Given the description of an element on the screen output the (x, y) to click on. 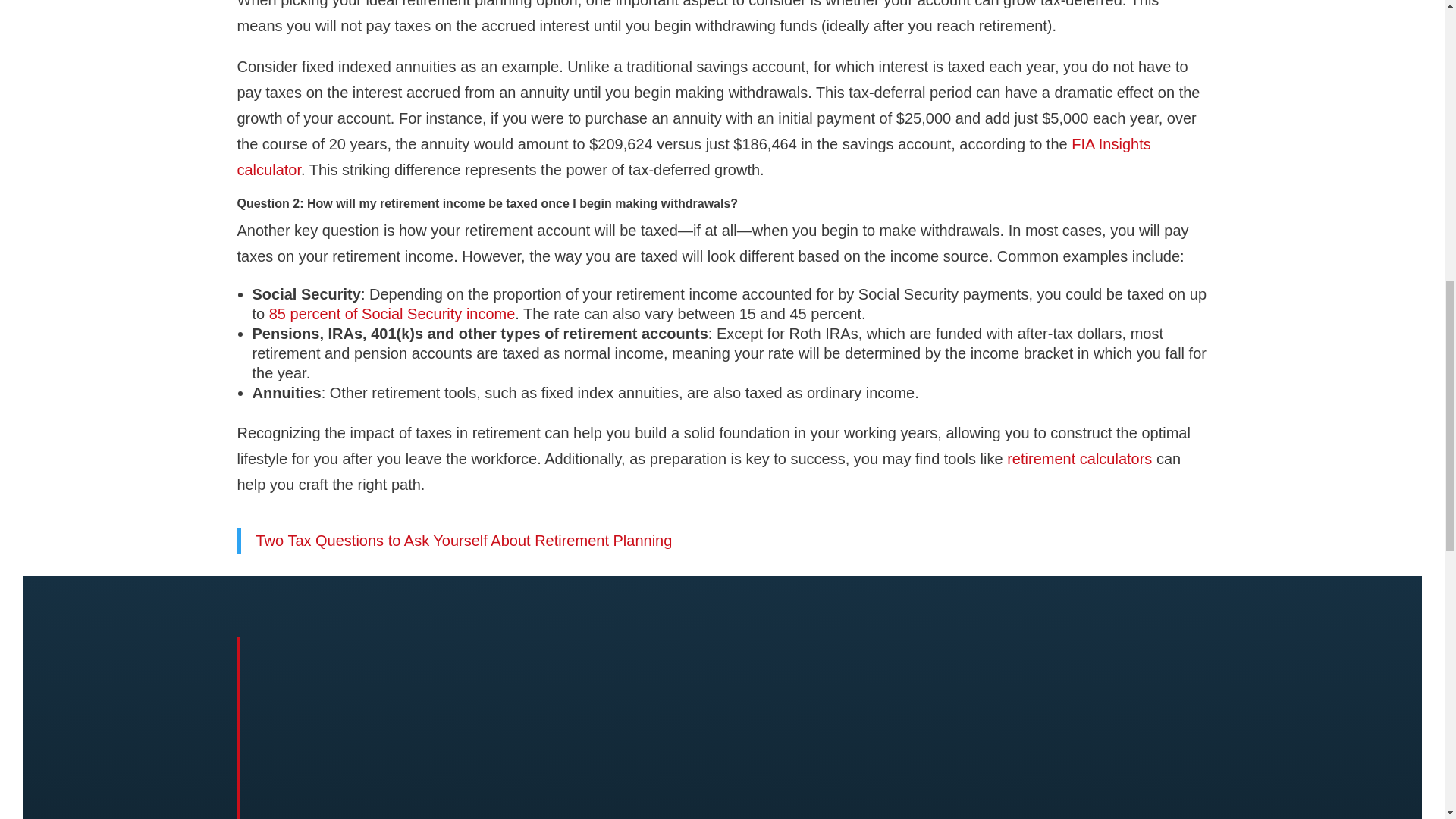
85 percent of Social Security income (392, 313)
FIA Insights calculator (692, 156)
Two Tax Questions to Ask Yourself About Retirement Planning (464, 540)
retirement calculators (1079, 458)
